Given the description of an element on the screen output the (x, y) to click on. 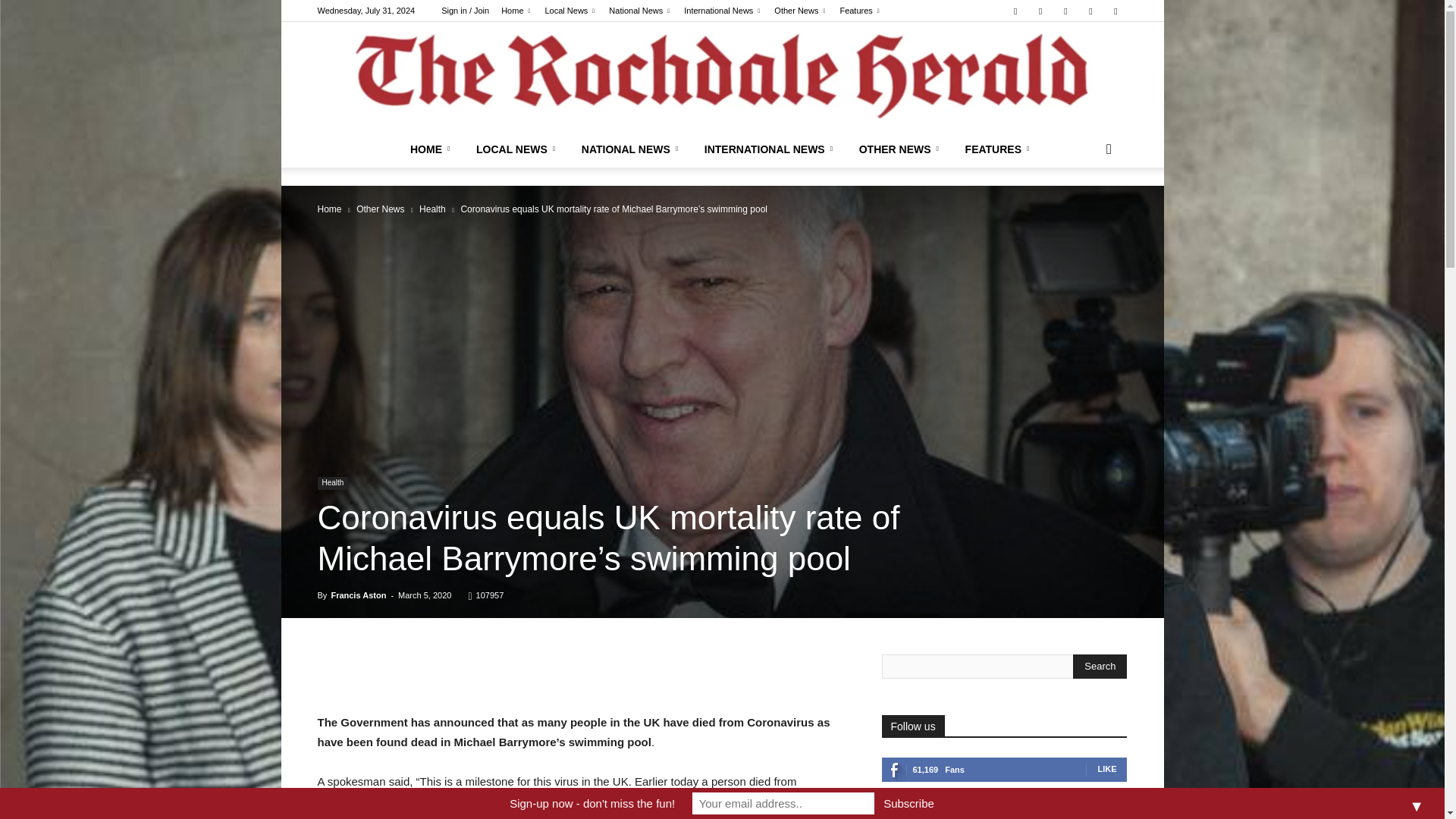
Reddit (1065, 10)
Twitter (1114, 10)
Pinterest (1040, 10)
RSS (1090, 10)
Search (1099, 666)
Facebook (1015, 10)
Subscribe (908, 803)
